Given the description of an element on the screen output the (x, y) to click on. 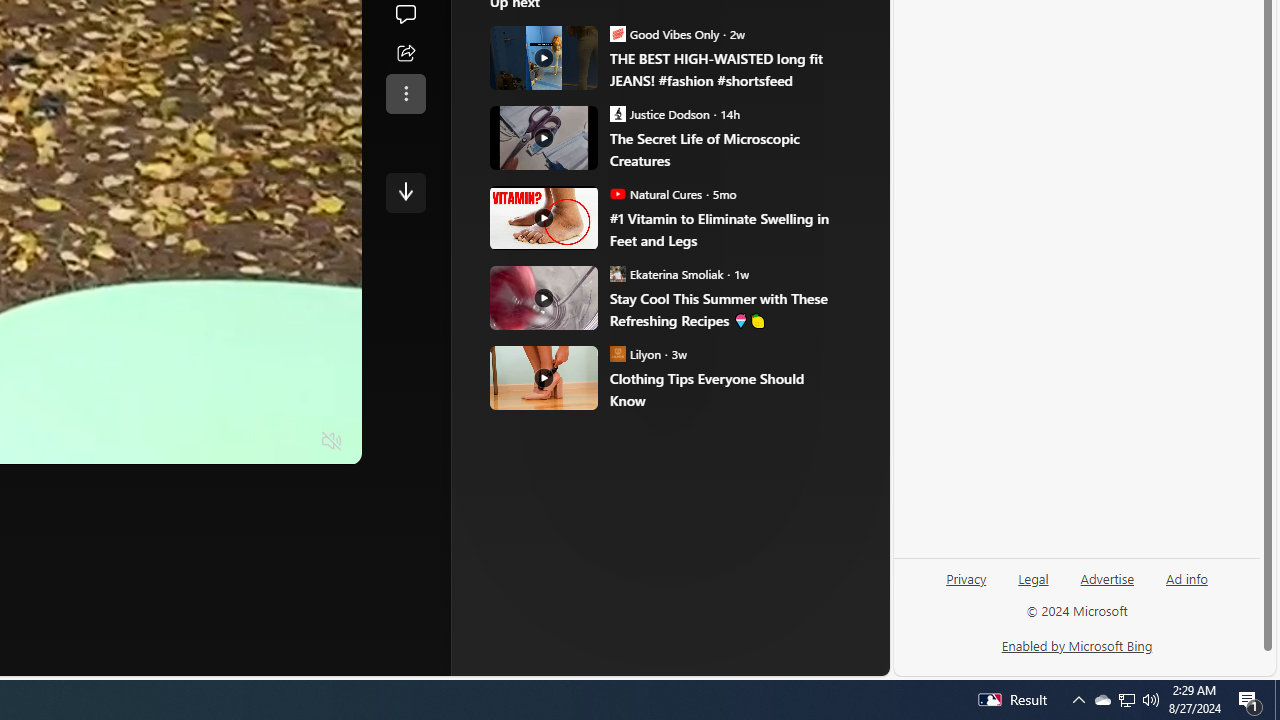
Advertise (1106, 586)
Natural Cures (617, 193)
Privacy (966, 586)
ABC News (584, 12)
Feedback (814, 659)
Lilyon Lilyon (635, 354)
AutomationID: e5rZOEMGacU1 (406, 192)
Class: at-item detail-page (406, 93)
Legal (1033, 577)
Share this story (406, 53)
Clothing Tips Everyone Should Know (726, 389)
Legal (1033, 586)
